Given the description of an element on the screen output the (x, y) to click on. 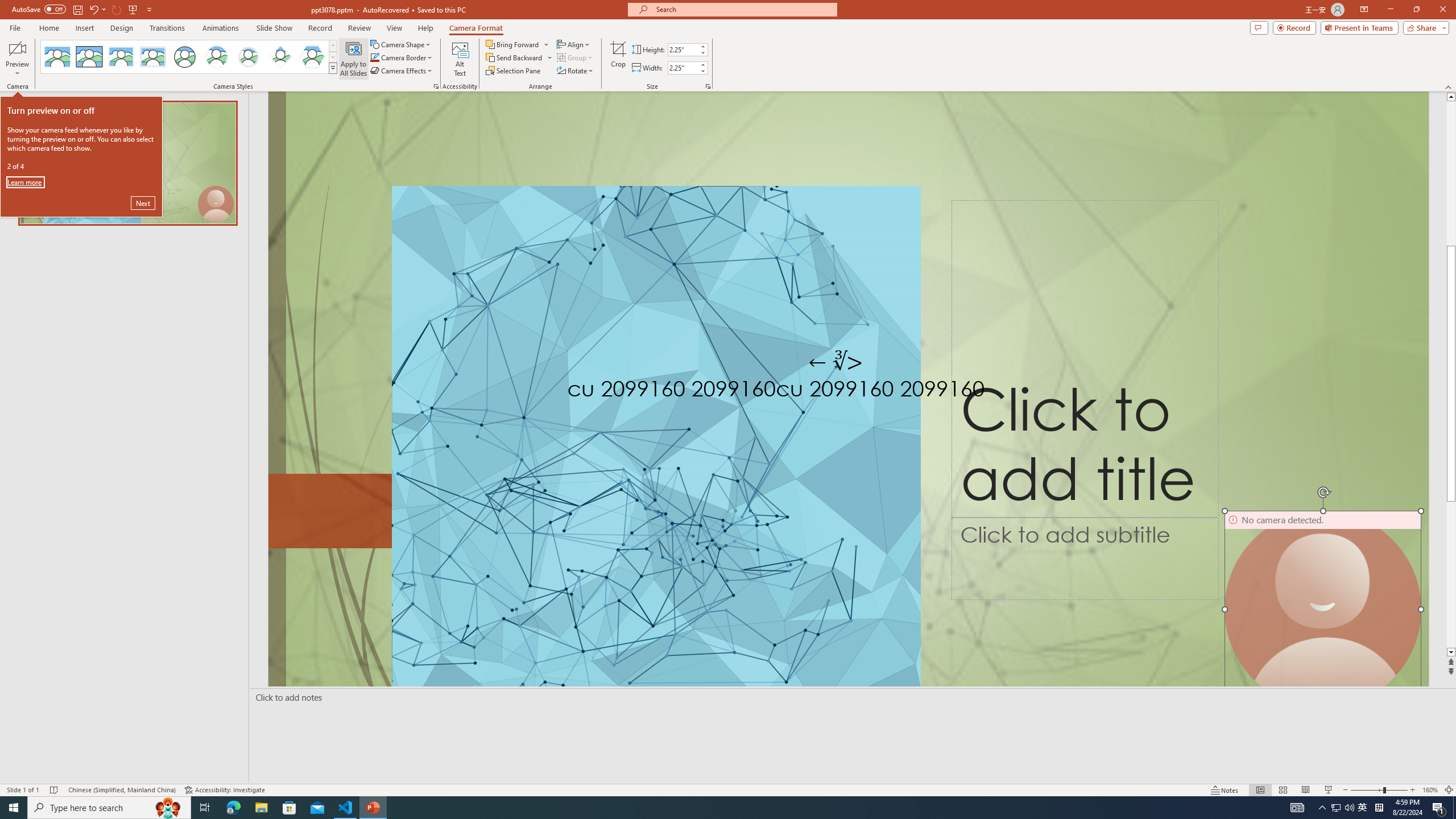
Simple Frame Circle (184, 56)
Camera Shape (400, 44)
Camera Format (475, 28)
Center Shadow Rectangle (120, 56)
Send Backward (514, 56)
